Given the description of an element on the screen output the (x, y) to click on. 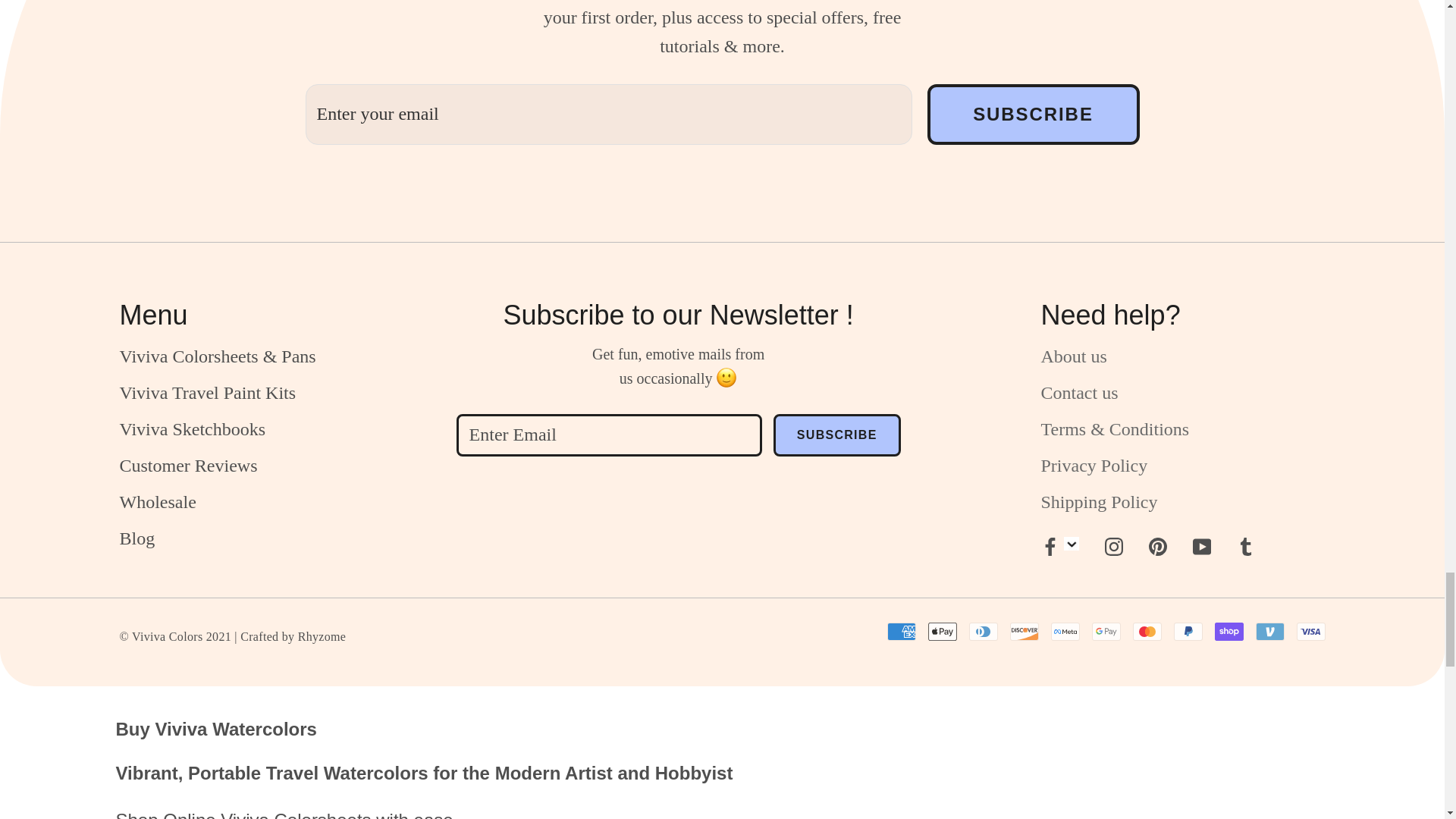
Apple Pay (942, 631)
Diners Club (983, 631)
Meta Pay (1065, 631)
Discover (1024, 631)
American Express (900, 631)
